Given the description of an element on the screen output the (x, y) to click on. 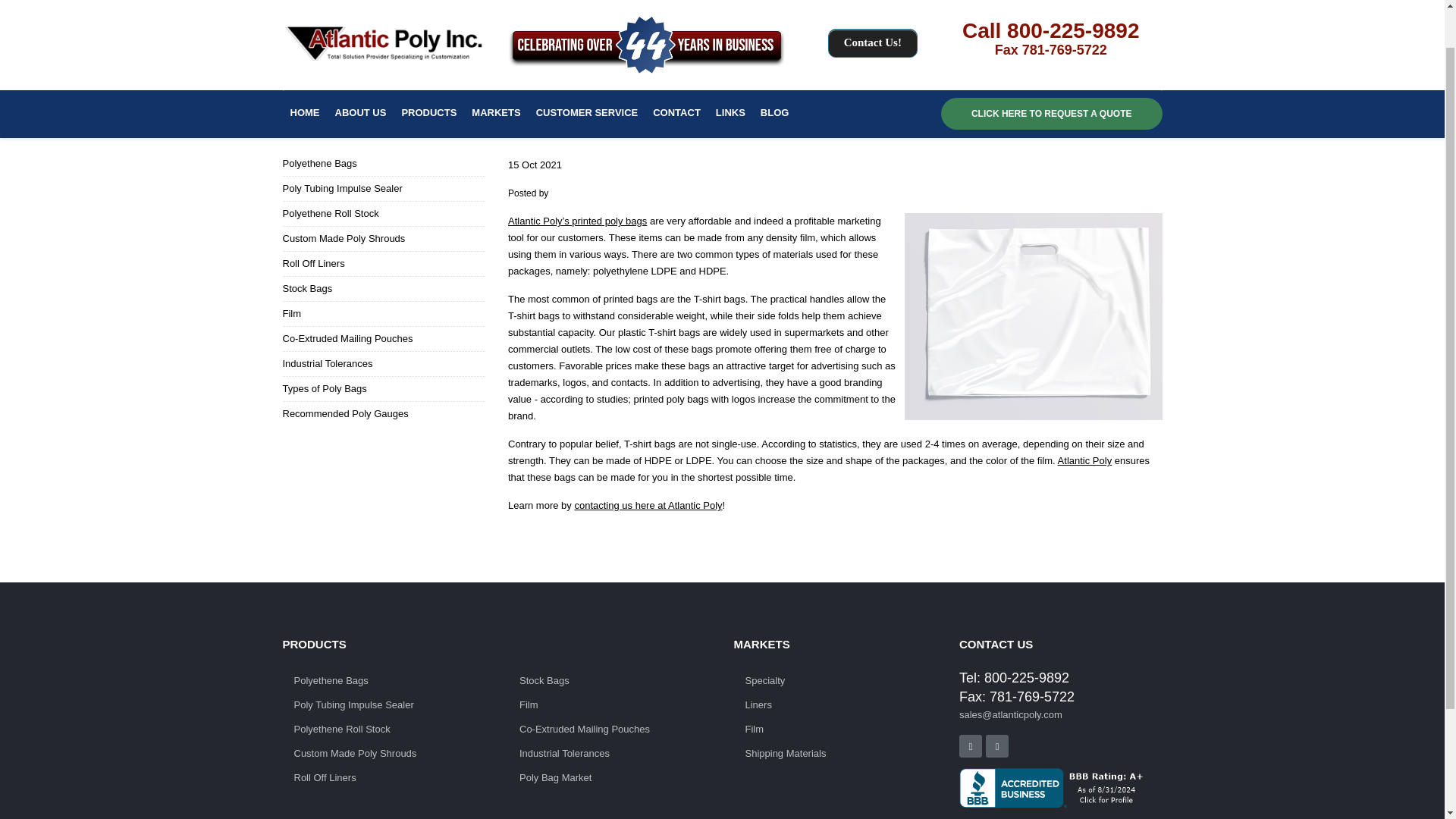
PRODUCTS (428, 68)
ABOUT US (360, 68)
Celebrating Over 44 Years in Business! (647, 14)
Contact Us! (872, 6)
HOME (304, 68)
781-769-5722 (1064, 6)
